Given the description of an element on the screen output the (x, y) to click on. 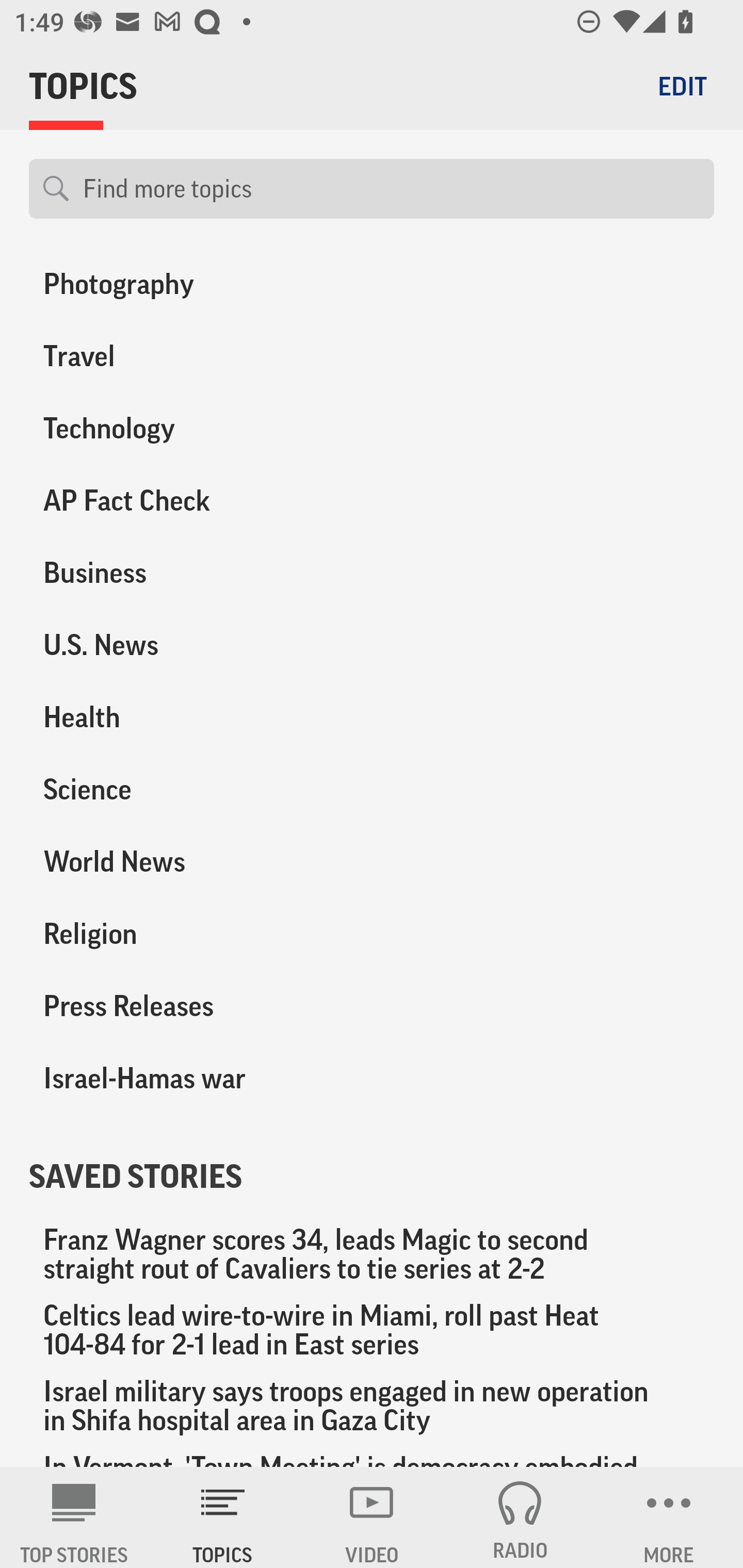
EDIT (682, 86)
Find more topics (391, 188)
Photography (185, 283)
Travel (185, 355)
Technology (185, 428)
AP Fact Check (185, 500)
Business (185, 572)
U.S. News (185, 645)
Health (185, 718)
Science (185, 790)
World News (185, 862)
Religion (185, 934)
Press Releases (185, 1006)
Israel-Hamas war (185, 1078)
AP News TOP STORIES (74, 1517)
TOPICS (222, 1517)
VIDEO (371, 1517)
RADIO (519, 1517)
MORE (668, 1517)
